Given the description of an element on the screen output the (x, y) to click on. 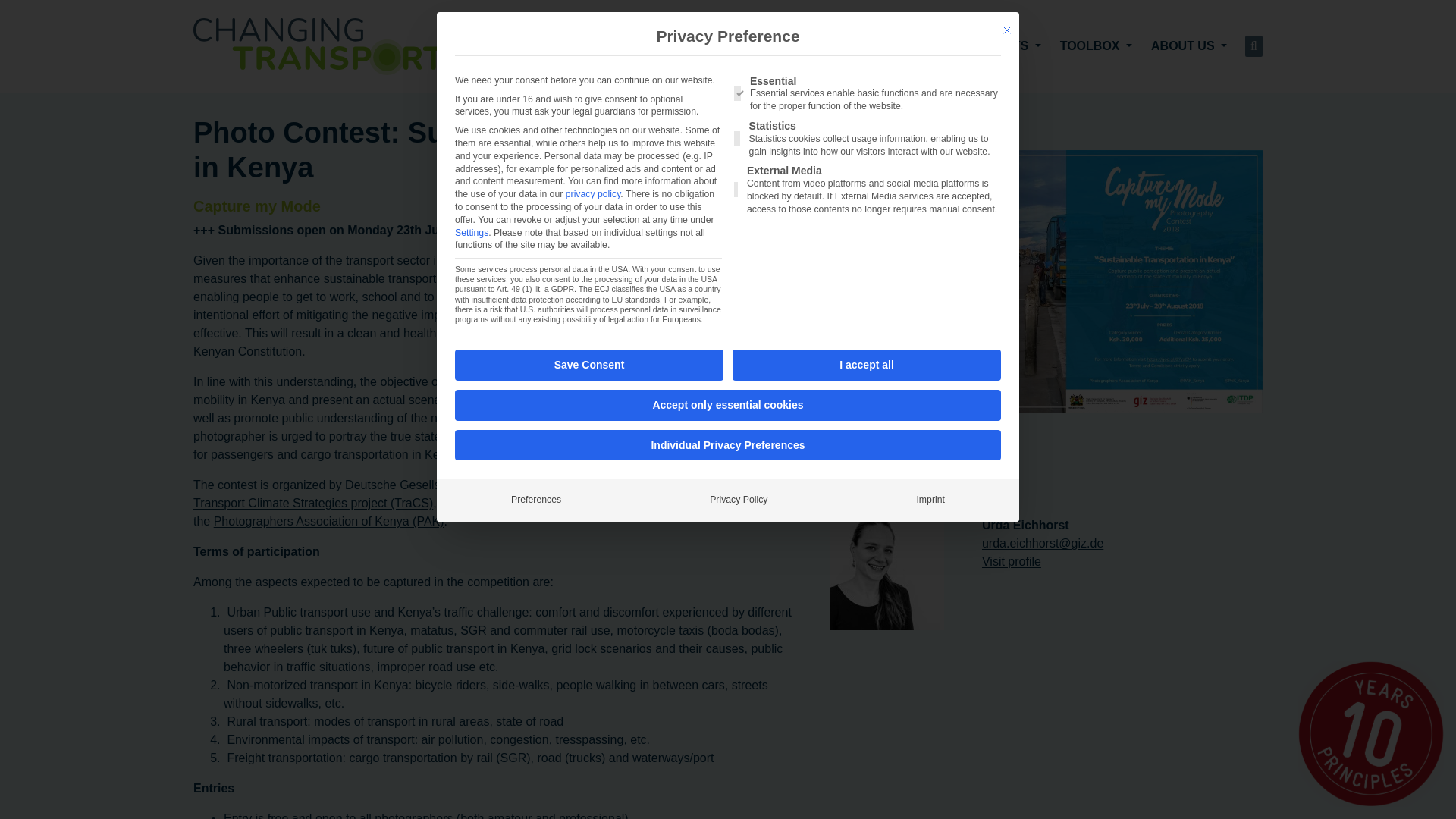
NEWS (942, 45)
Click me (895, 427)
PUBLICATIONS (860, 45)
OUR WORK (755, 45)
EVENTS (1010, 45)
TOOLBOX (1095, 45)
